Given the description of an element on the screen output the (x, y) to click on. 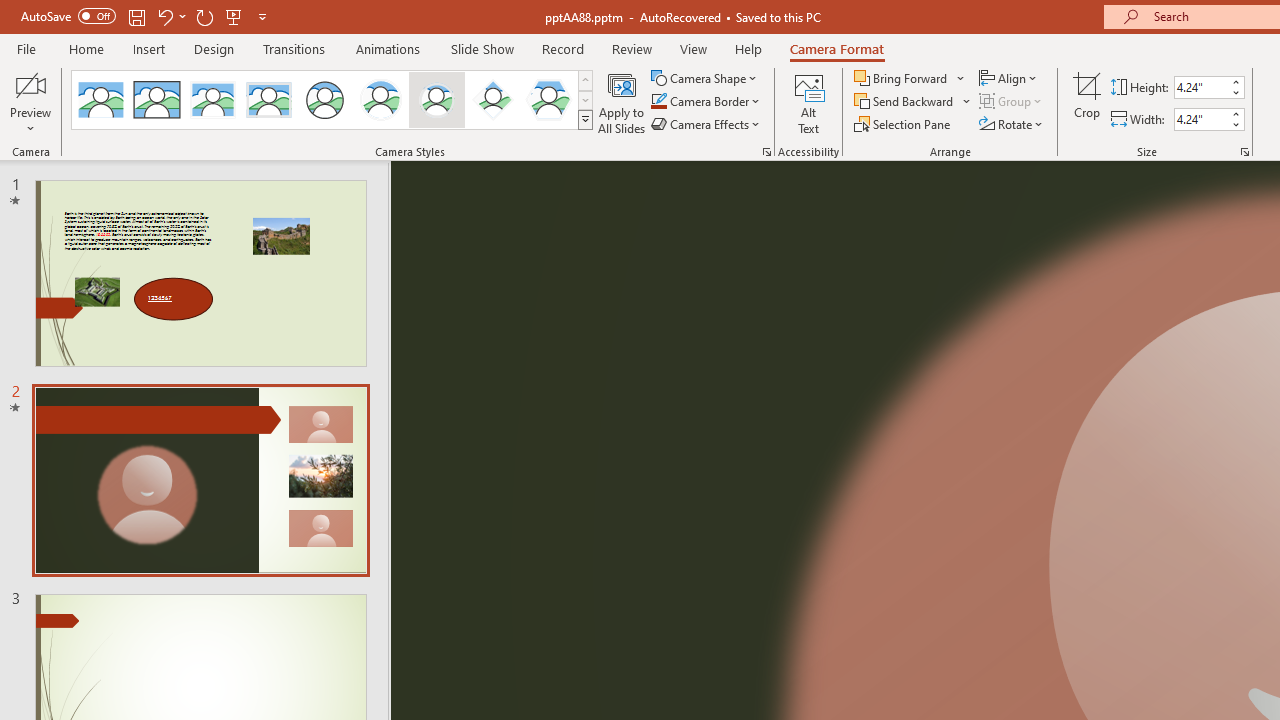
Class: NetUIImage (586, 119)
Enable Camera Preview (30, 84)
